Given the description of an element on the screen output the (x, y) to click on. 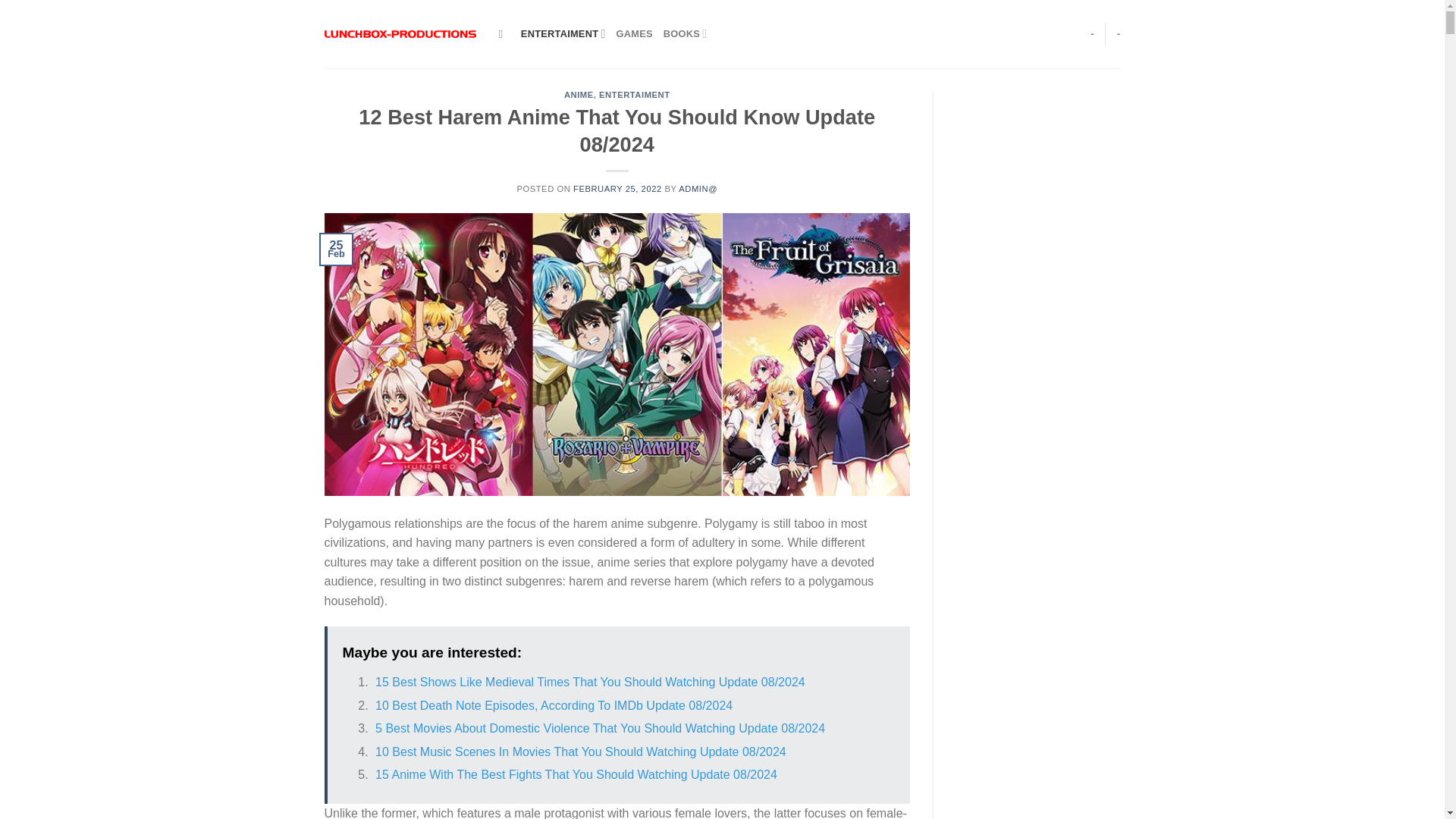
Lunchbox Theatrical Productions (400, 33)
BOOKS (685, 33)
GAMES (633, 33)
ENTERTAIMENT (563, 33)
ENTERTAIMENT (633, 94)
FEBRUARY 25, 2022 (617, 188)
ANIME (579, 94)
